Given the description of an element on the screen output the (x, y) to click on. 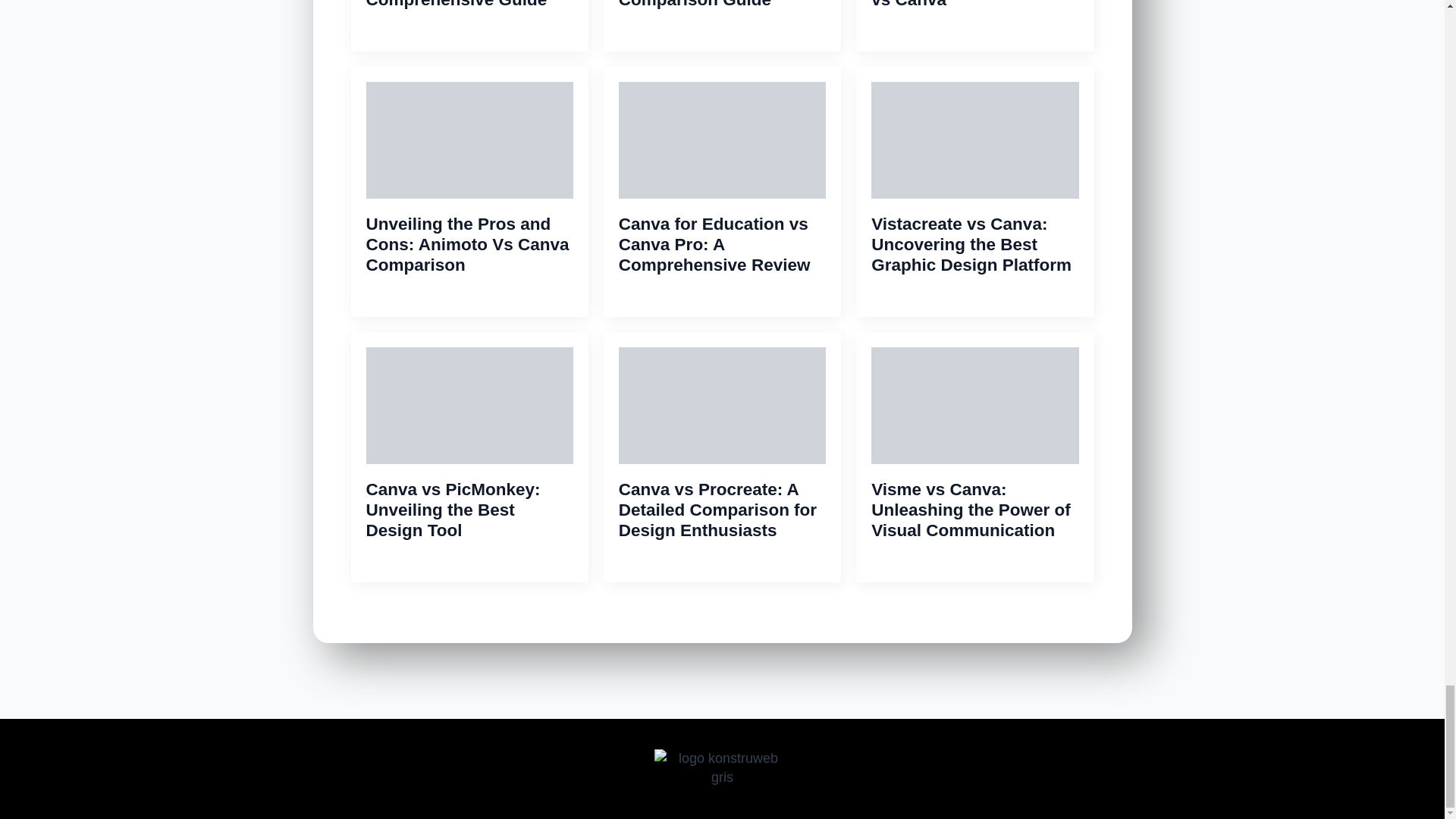
Unveiling the Pros and Cons: Animoto Vs Canva Comparison (468, 244)
Canva for Education vs Canva Pro: A Comprehensive Review (721, 244)
Comparing Visual Content Tools: Piktochart vs Canva (974, 4)
Canva vs Google Slides: A Comprehensive Comparison Guide (721, 4)
